Given the description of an element on the screen output the (x, y) to click on. 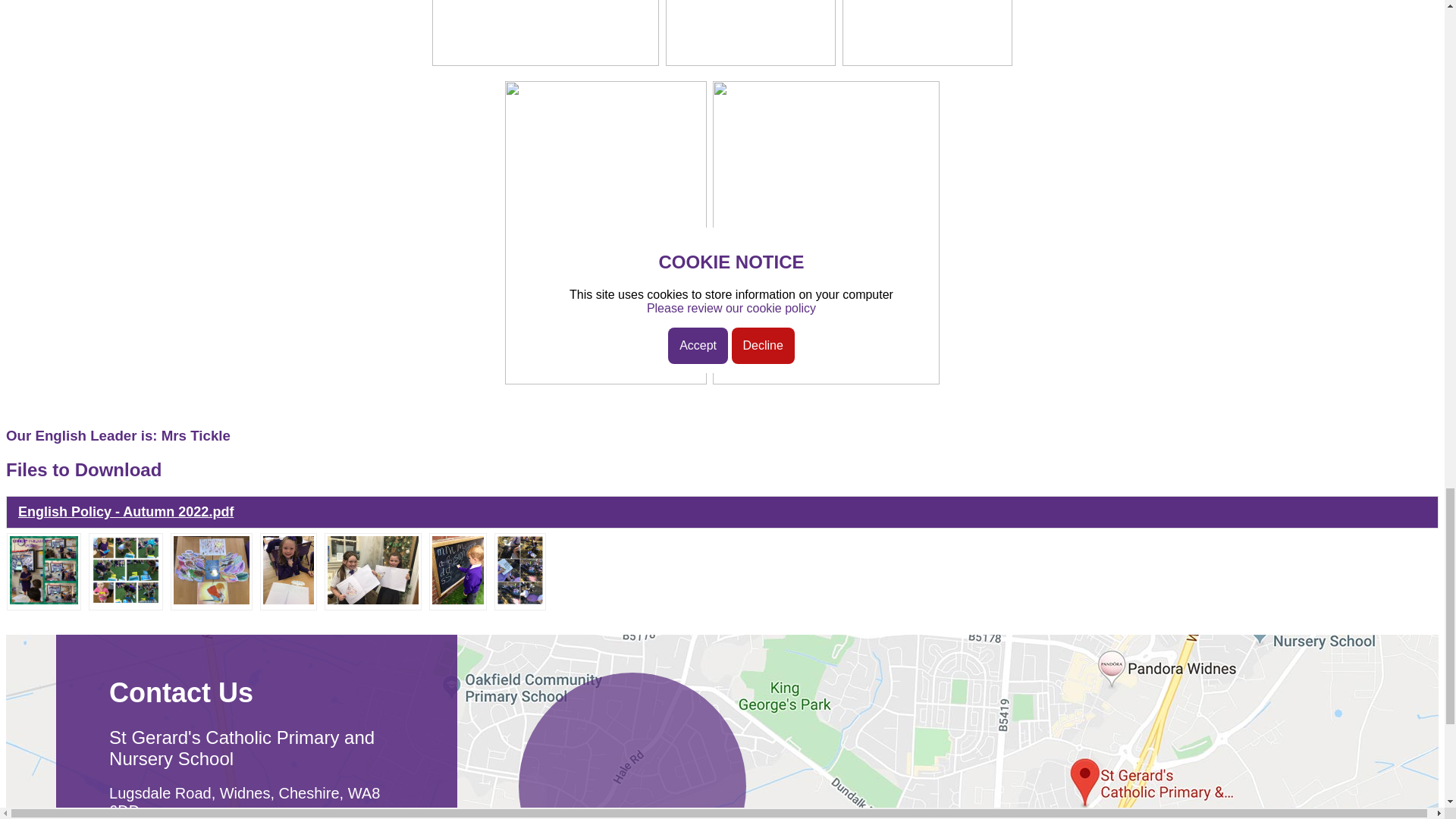
3DC4EDB1-772B-4D42-97F2-0C08AF58D5CF.jpeg (44, 599)
15F83D19-8A32-4CB7-ABB5-389BB5344A39.jpeg (457, 599)
D99DC8EC-5F03-47F2-BE97-3D35E5A0CE8B.jpeg (210, 599)
8BAEBDF0-6DD8-473C-9933-2BC0794664FF.jpeg (373, 599)
746C861E-42F6-45ED-B124-E478B8D6514E.jpeg (288, 599)
25839966-EC2A-4FA7-9987-7AEE62E906A1.jpeg (520, 599)
529C74E9-675F-4133-8D83-7F9F669C57B2.jpeg (125, 599)
